Given the description of an element on the screen output the (x, y) to click on. 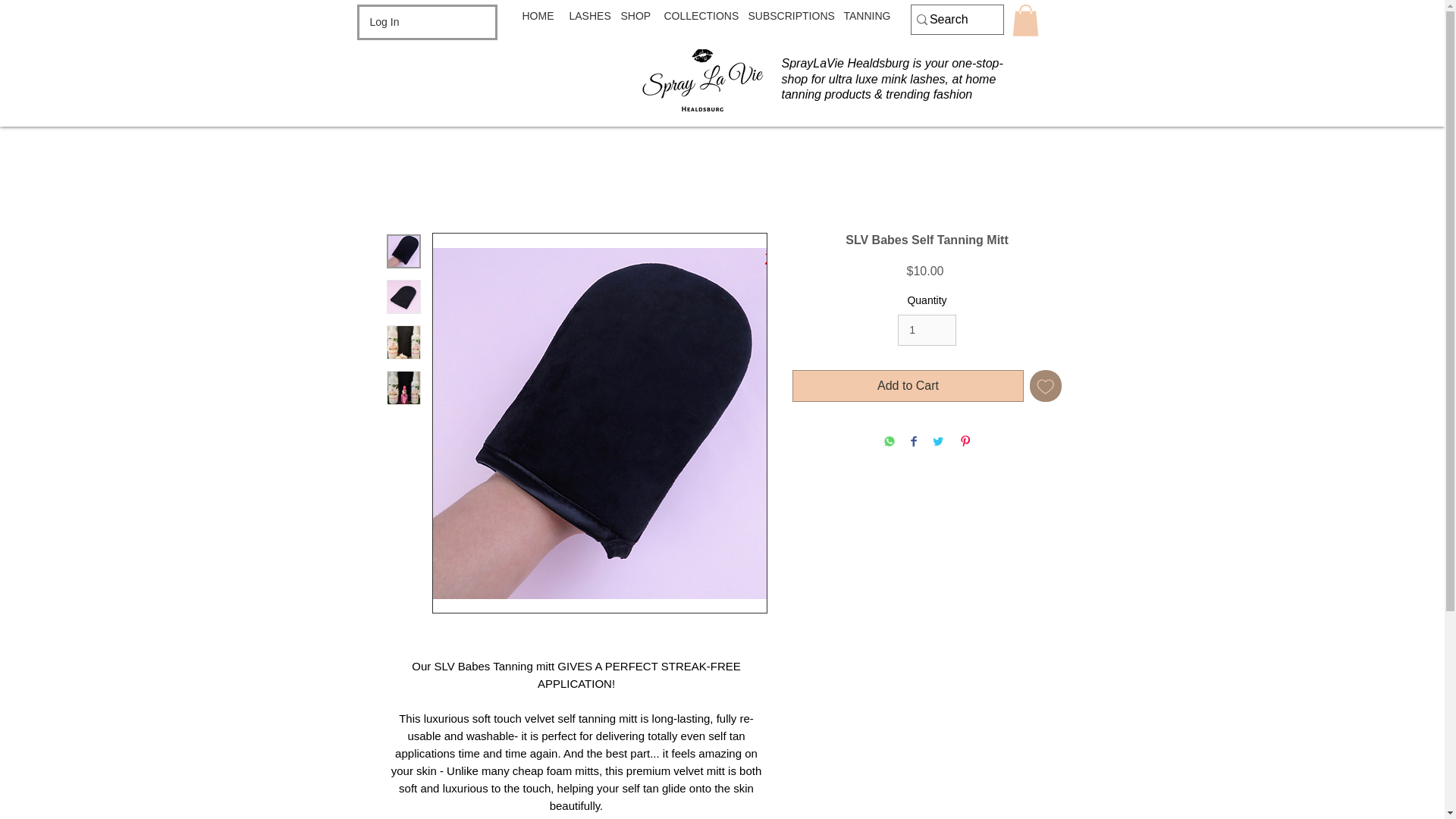
Log In (384, 22)
HOME (536, 15)
1 (926, 329)
